Given the description of an element on the screen output the (x, y) to click on. 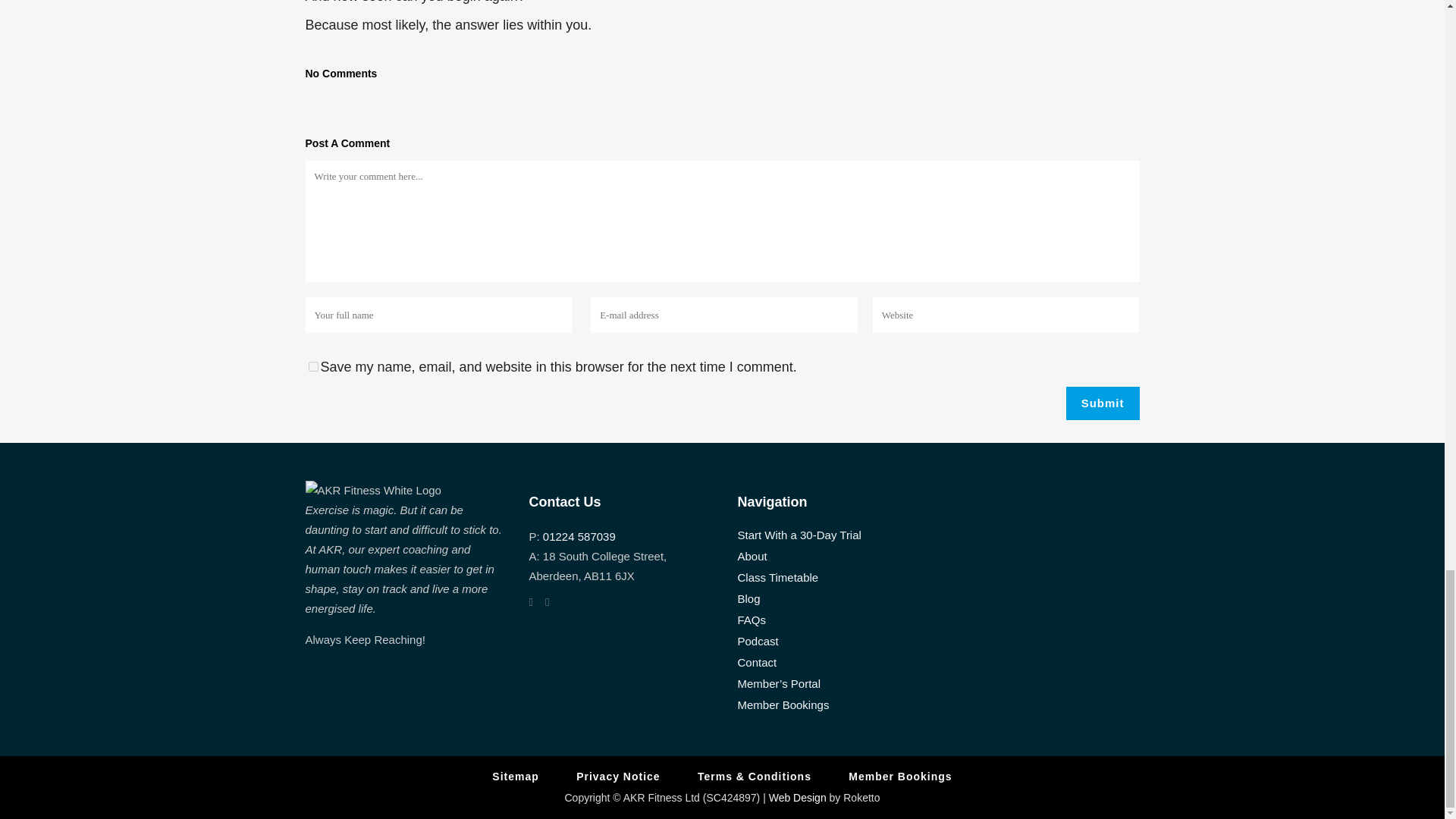
About (831, 556)
Submit (1102, 403)
Member Bookings (900, 776)
Blog (831, 598)
FAQs (831, 619)
Submit (1102, 403)
Class Timetable (831, 577)
Start With a 30-Day Trial (831, 535)
Podcast (831, 641)
Web Design (797, 797)
